Given the description of an element on the screen output the (x, y) to click on. 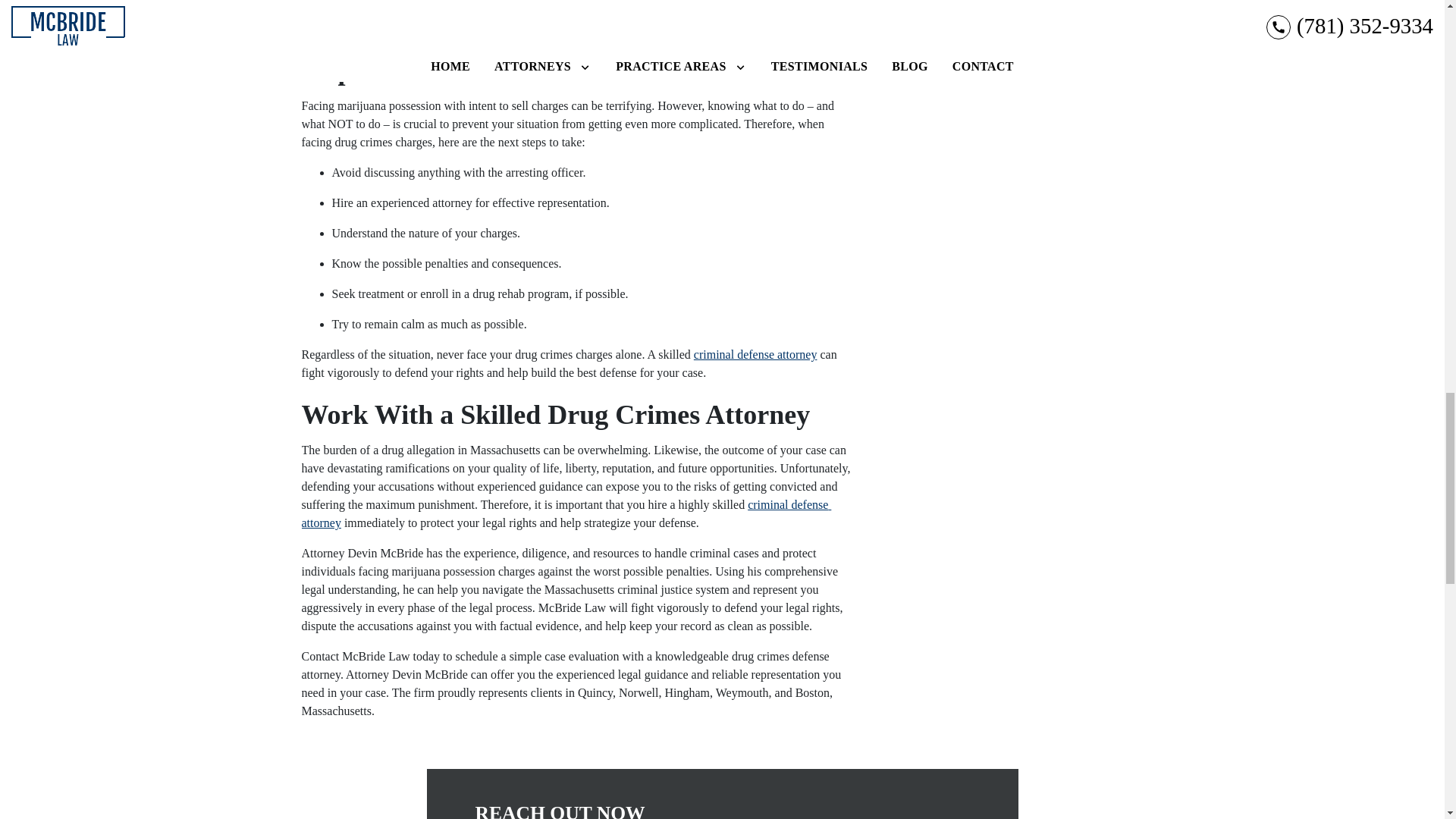
criminal defense attorney  (757, 354)
Massachusetts criminal defense attorney (445, 10)
criminal defense attorney  (566, 513)
